Given the description of an element on the screen output the (x, y) to click on. 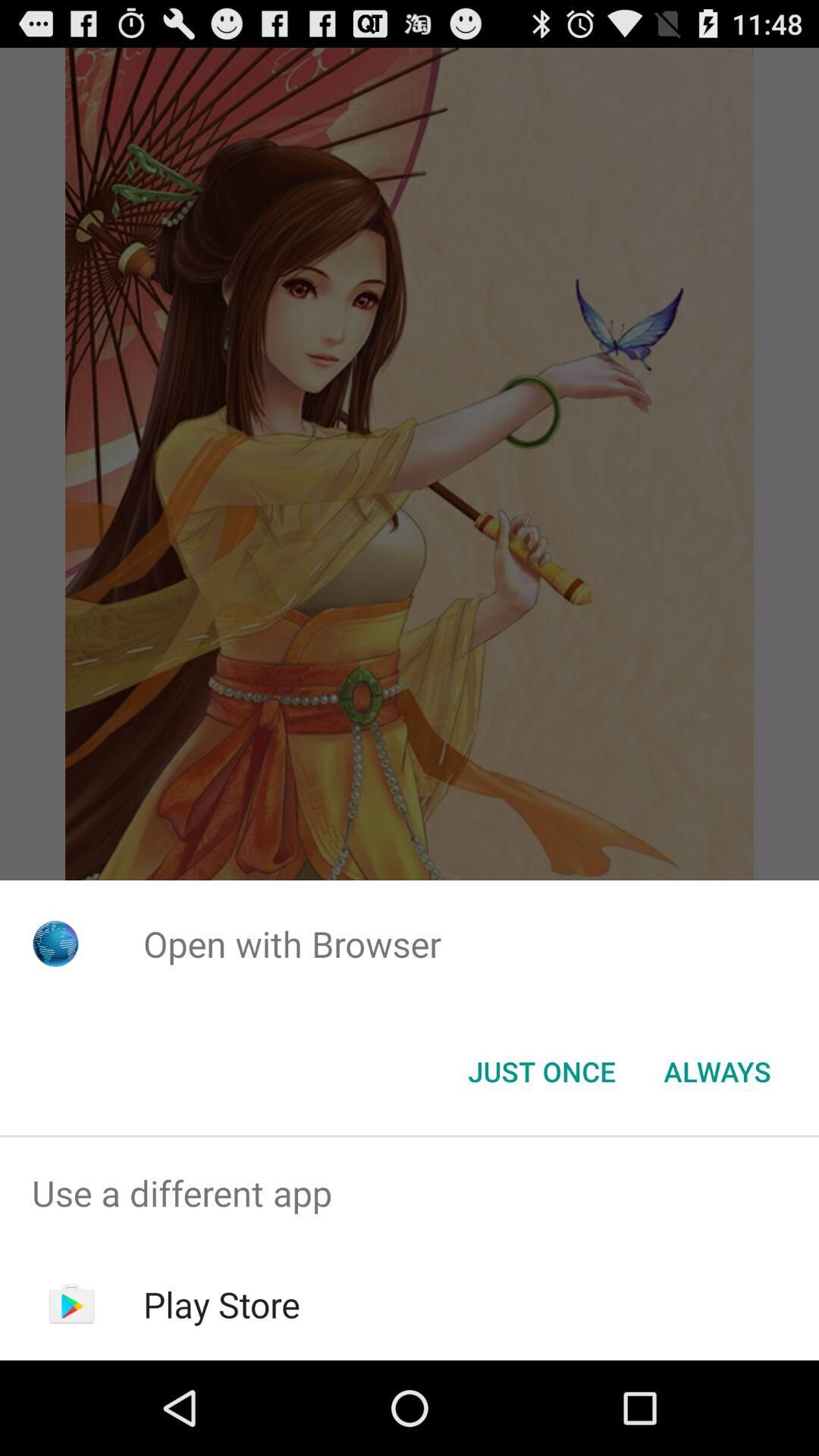
turn off the use a different icon (409, 1192)
